Given the description of an element on the screen output the (x, y) to click on. 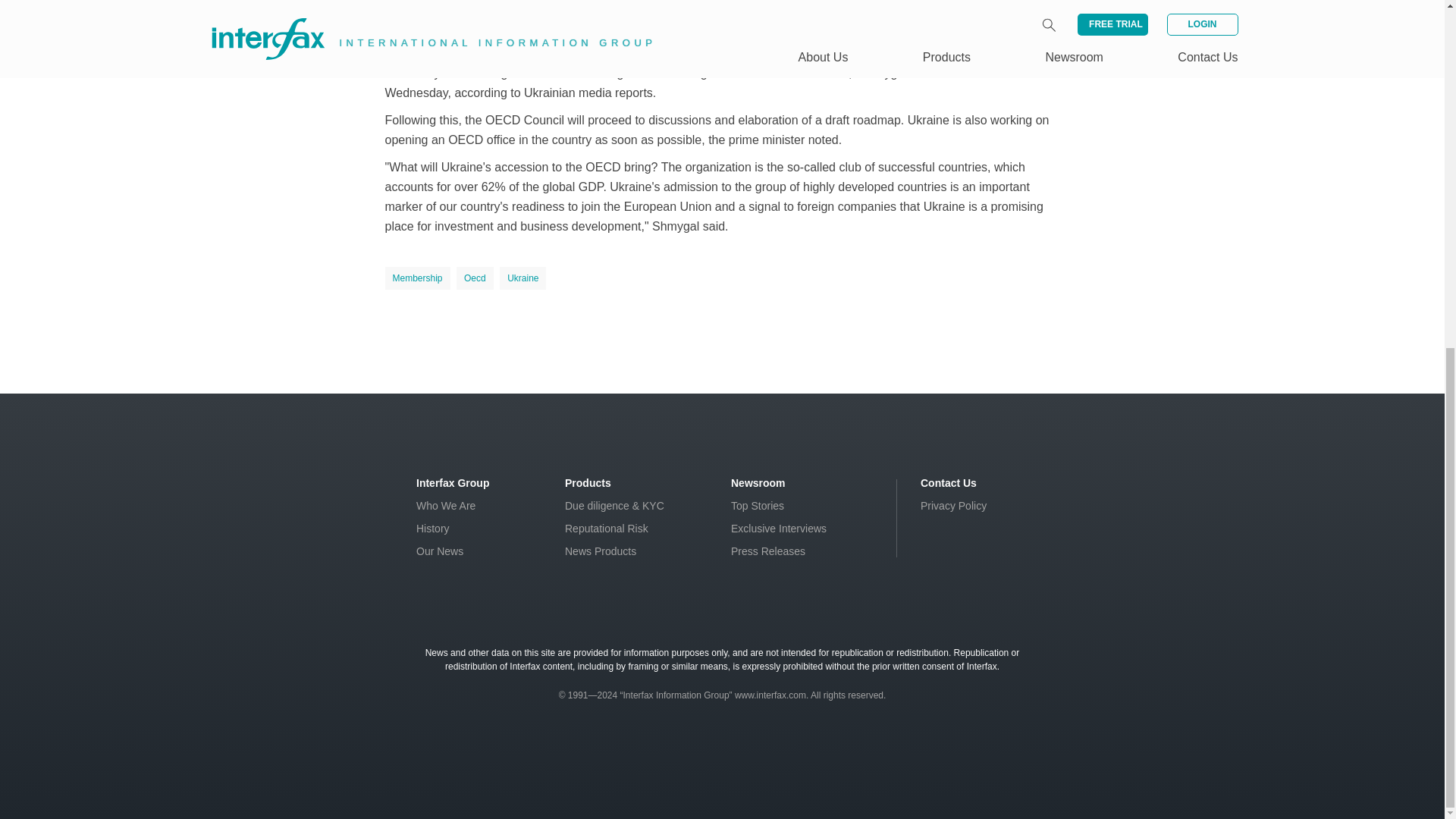
Oecd (475, 277)
Ukraine (522, 277)
Membership (417, 277)
Interfax Group (452, 482)
